Given the description of an element on the screen output the (x, y) to click on. 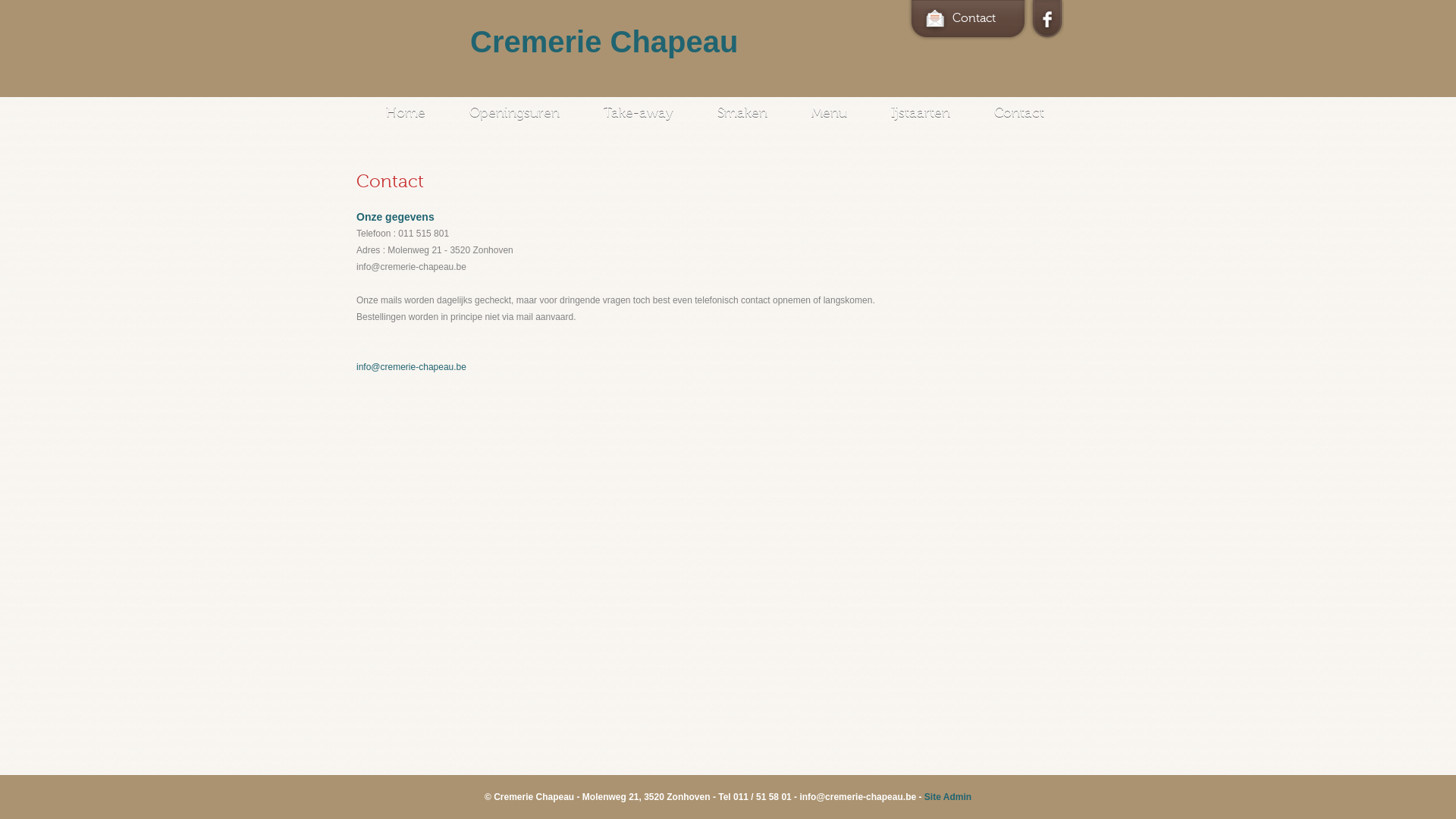
Site Admin Element type: text (947, 796)
Openingsuren Element type: text (514, 111)
Cremerie Chapeau Element type: text (621, 42)
Ijstaarten Element type: text (920, 111)
Menu Element type: text (829, 111)
Take-away Element type: text (638, 111)
facebook Element type: text (1047, 19)
Contact Element type: text (958, 18)
Contact Element type: text (1019, 111)
Smaken Element type: text (742, 111)
Home Element type: text (405, 111)
info@cremerie-chapeau.be Element type: text (411, 366)
